Given the description of an element on the screen output the (x, y) to click on. 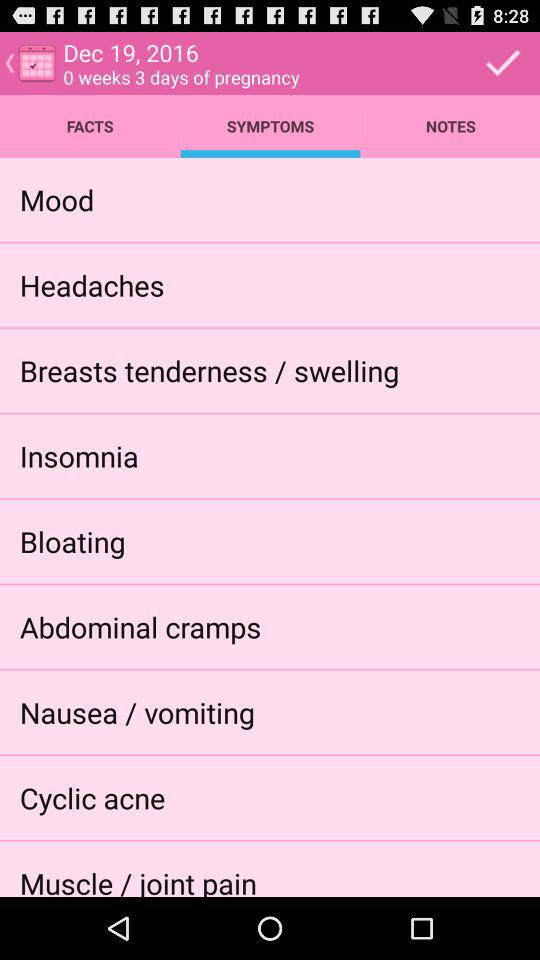
used to justify the thing (503, 62)
